Given the description of an element on the screen output the (x, y) to click on. 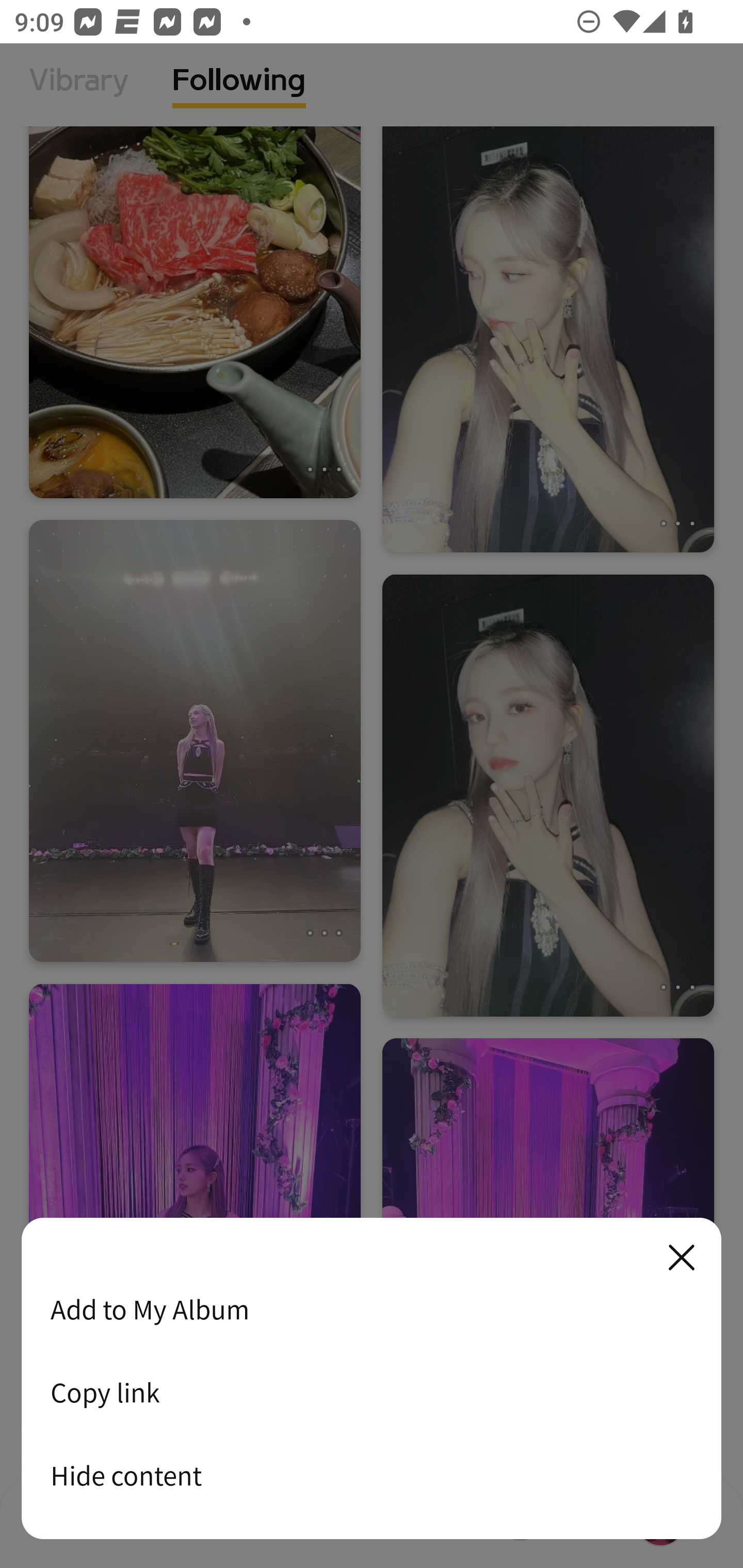
Add to My Album Copy link Hide content (371, 1378)
Add to My Album (371, 1308)
Copy link (371, 1391)
Hide content (371, 1474)
